Given the description of an element on the screen output the (x, y) to click on. 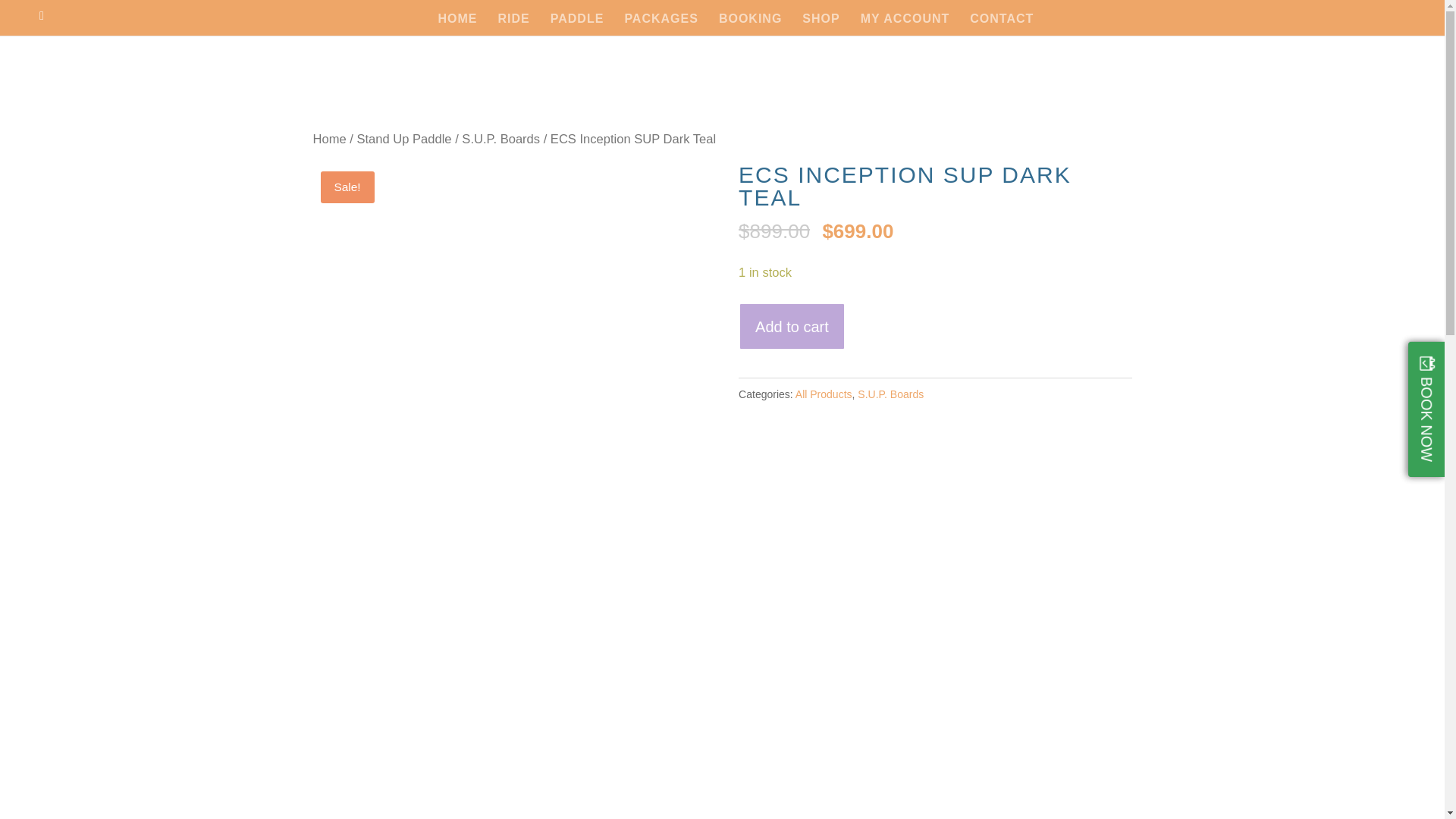
PACKAGES (661, 24)
Stand Up Paddle (403, 138)
CONTACT (1001, 24)
S.U.P. Boards (500, 138)
MY ACCOUNT (905, 24)
BOOKING (750, 24)
All Products (822, 394)
HOME (457, 24)
PADDLE (577, 24)
RIDE (513, 24)
